Given the description of an element on the screen output the (x, y) to click on. 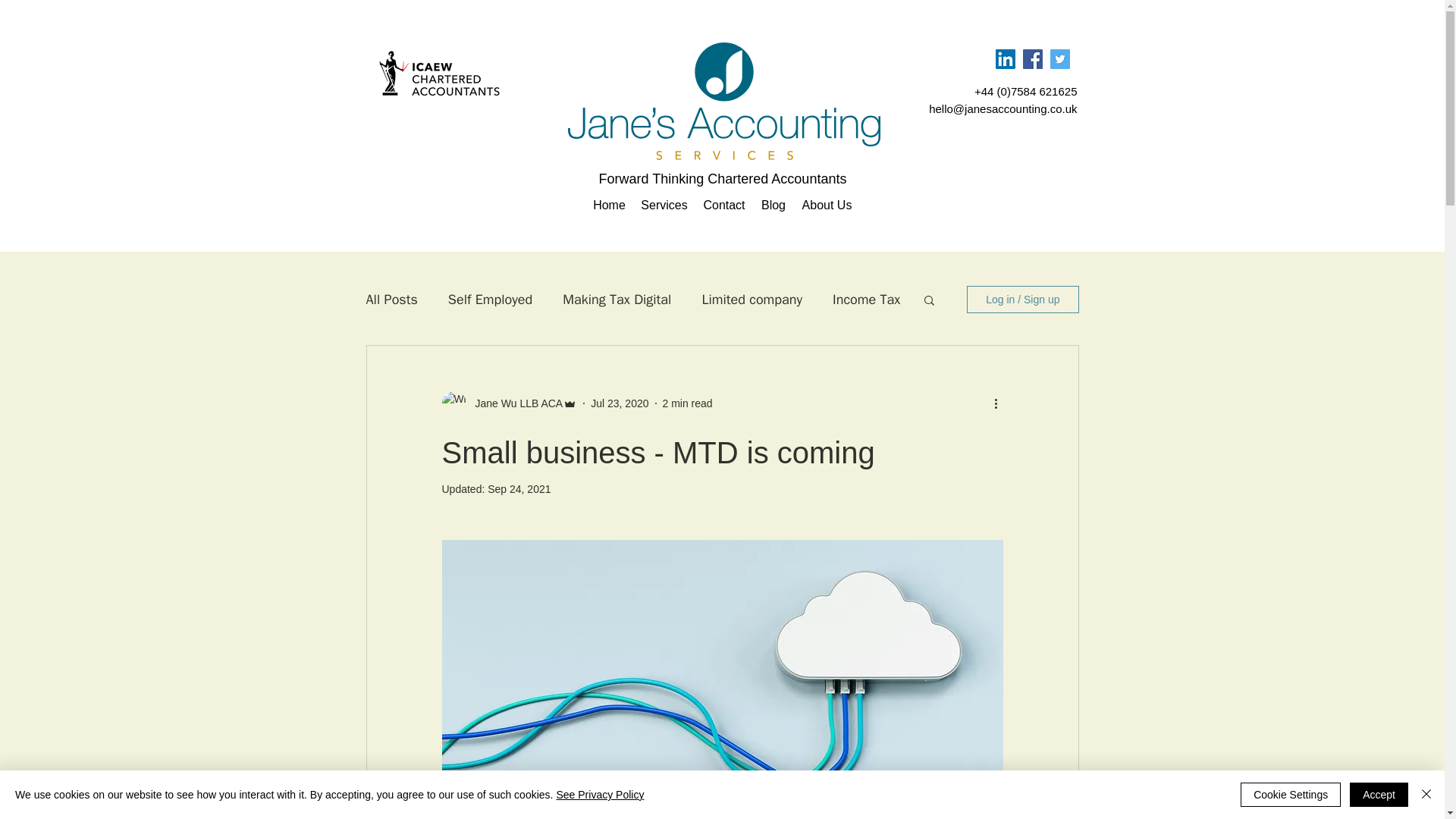
Limited company (751, 299)
Sep 24, 2021 (518, 489)
Making Tax Digital (616, 299)
Home (609, 205)
All Posts (390, 299)
Jul 23, 2020 (619, 403)
Services (664, 205)
About Us (826, 205)
Jane Wu LLB ACA (513, 403)
Blog (772, 205)
Self Employed (490, 299)
2 min read (687, 403)
Contact (723, 205)
Income Tax (865, 299)
